Given the description of an element on the screen output the (x, y) to click on. 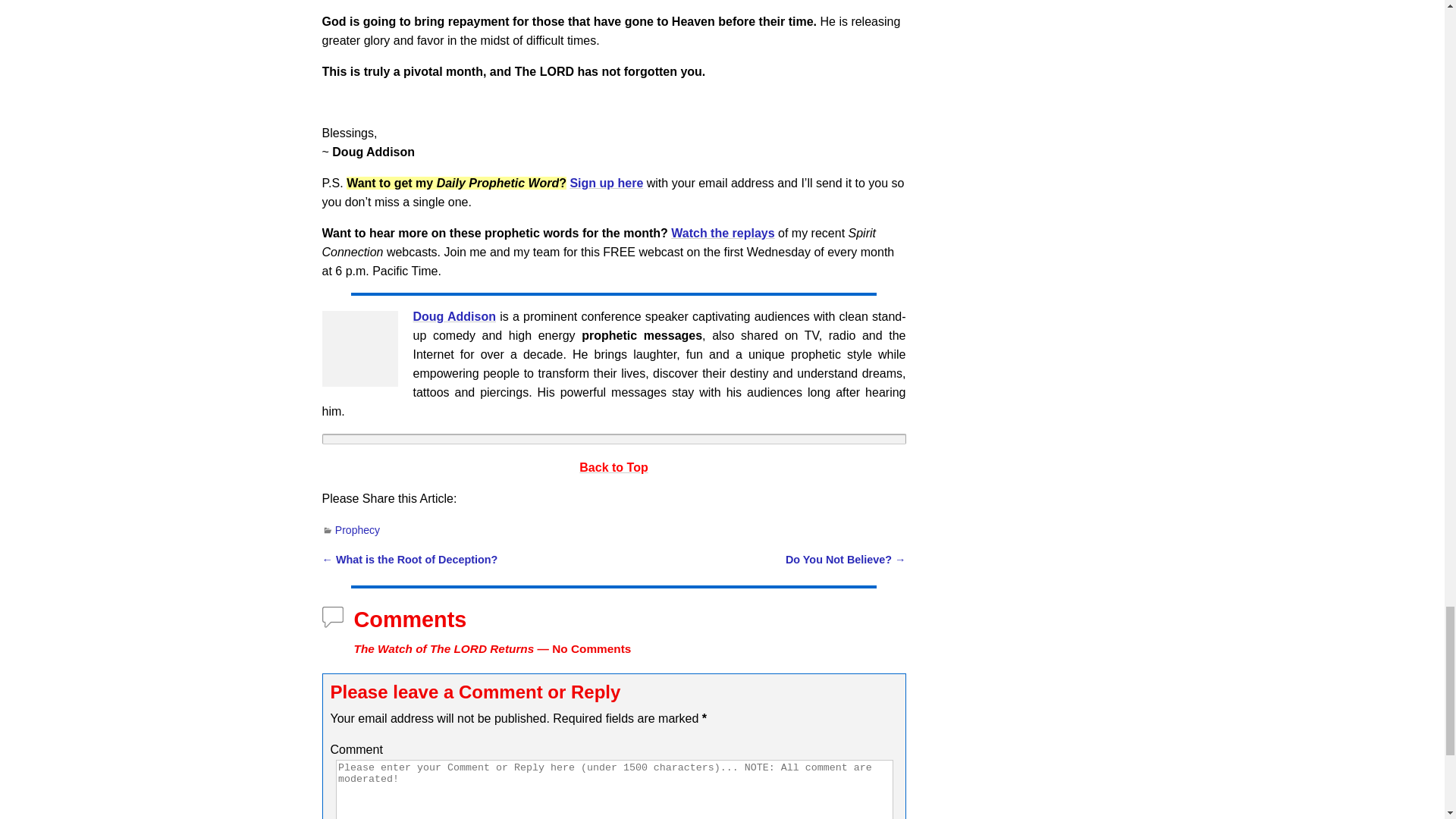
Doug Addison (359, 348)
Link to Doug Addison's website (454, 316)
